Given the description of an element on the screen output the (x, y) to click on. 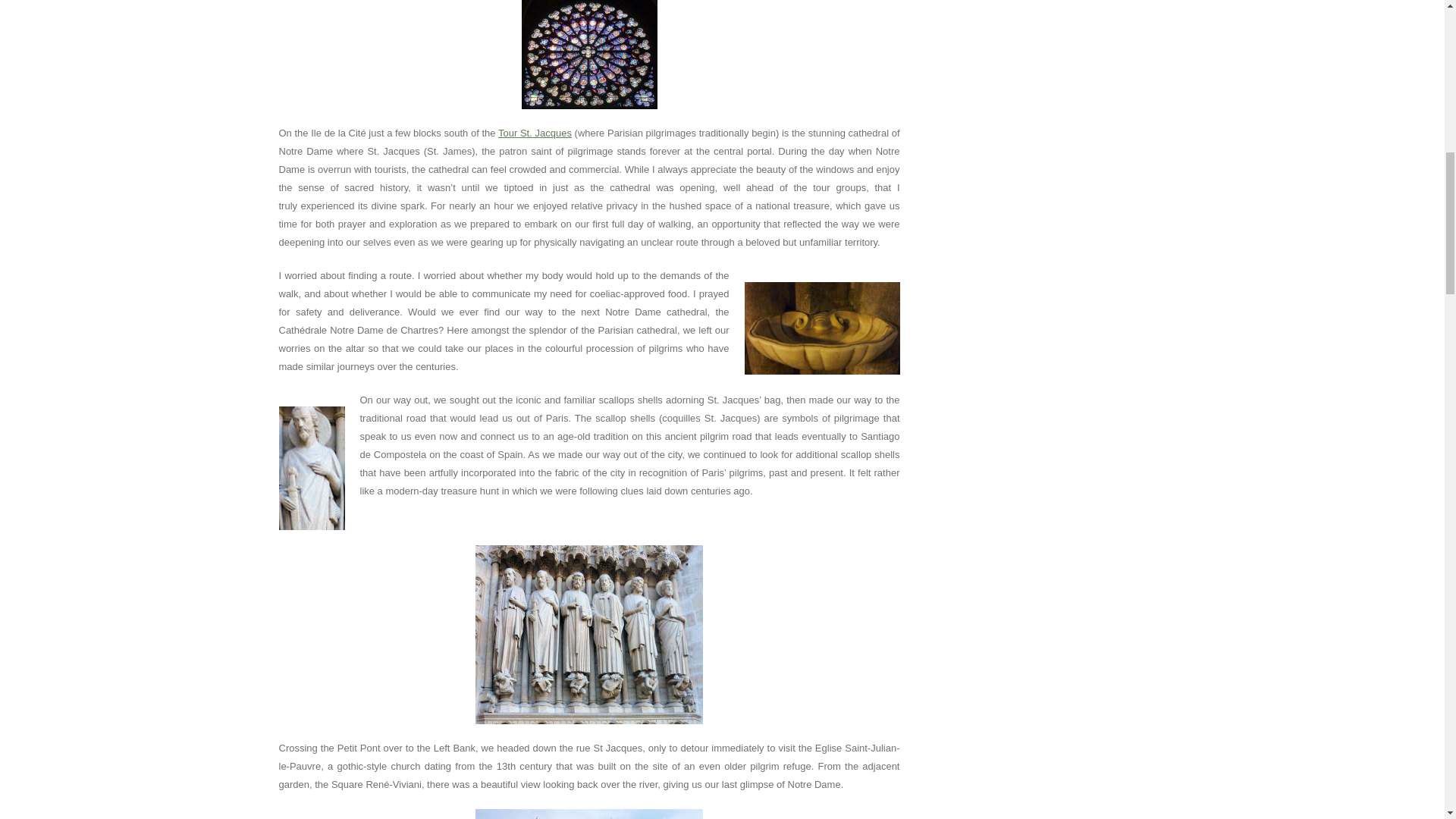
Tour St. Jacques (534, 132)
Scallop Font, Notre Dame (821, 327)
Rose Window, Notre Dame, Paris (589, 54)
Apostles, Notre Dame (589, 634)
Notre Dame, Paris (589, 814)
